Given the description of an element on the screen output the (x, y) to click on. 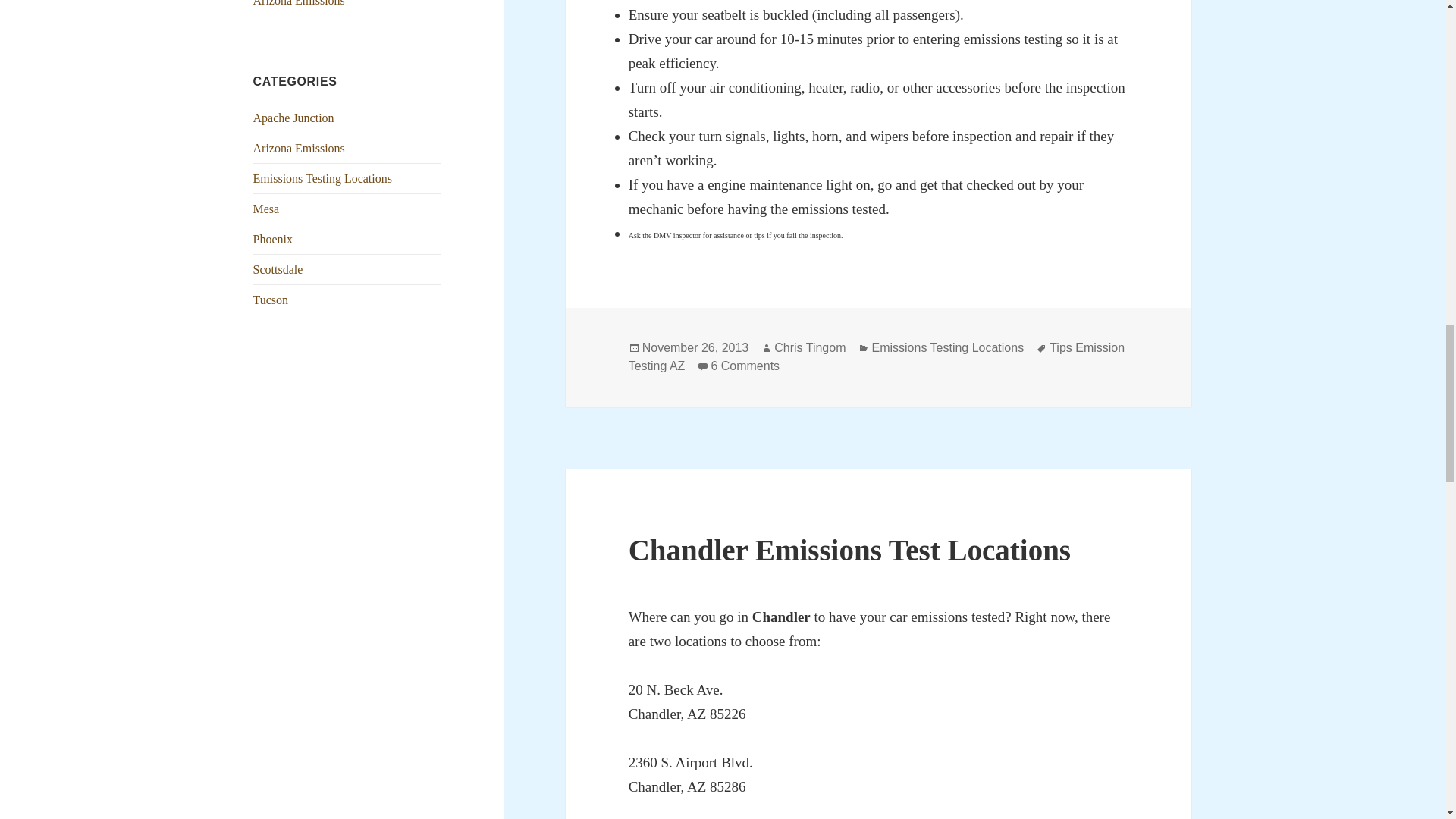
Emissions Testing Locations (322, 178)
Arizona Emissions (299, 147)
Mesa (266, 208)
Apache Junction (293, 117)
Arizona Emissions (299, 3)
